Given the description of an element on the screen output the (x, y) to click on. 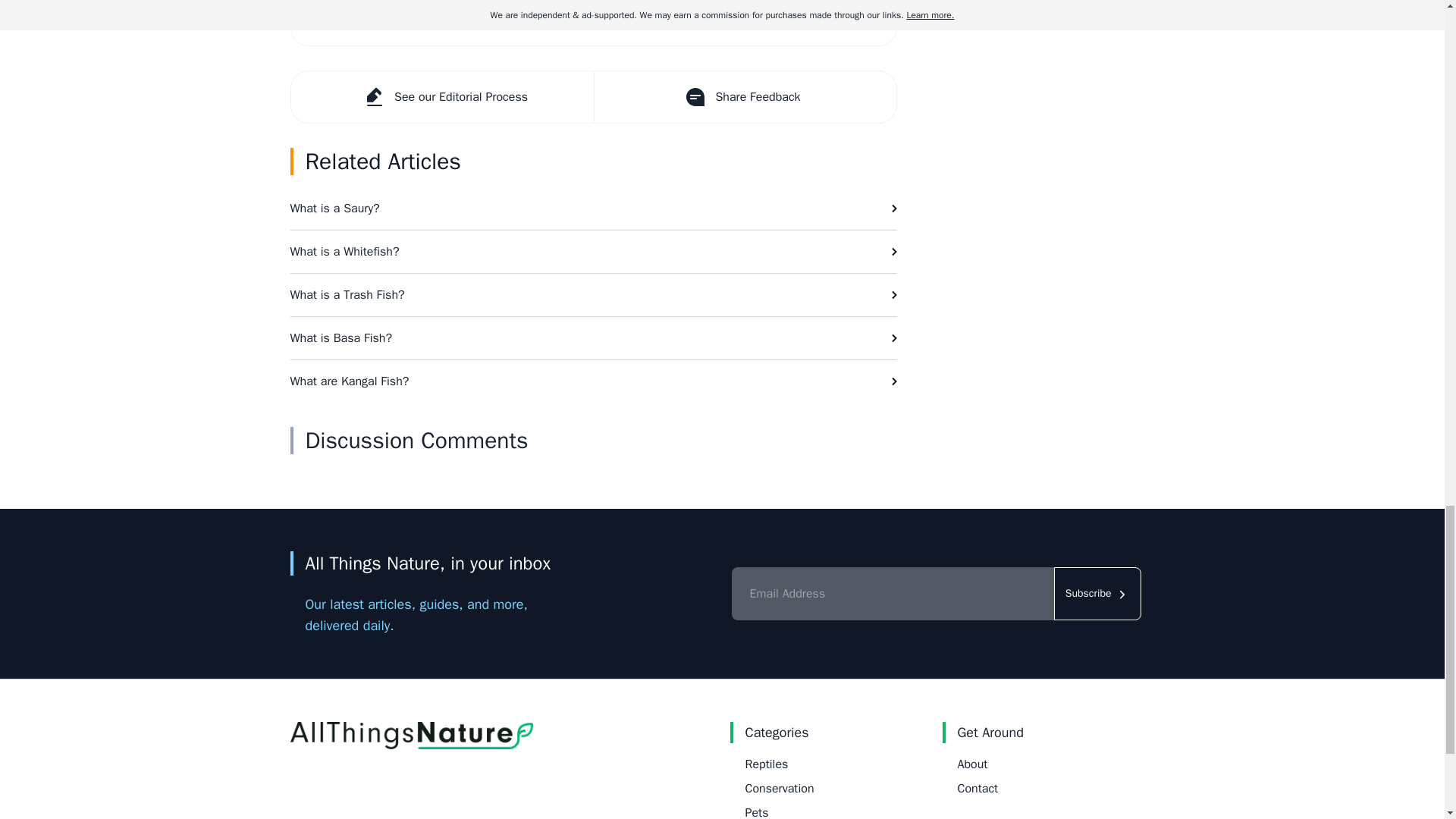
What is a Saury? (592, 208)
See our Editorial Process (442, 96)
Share Feedback (743, 96)
